Given the description of an element on the screen output the (x, y) to click on. 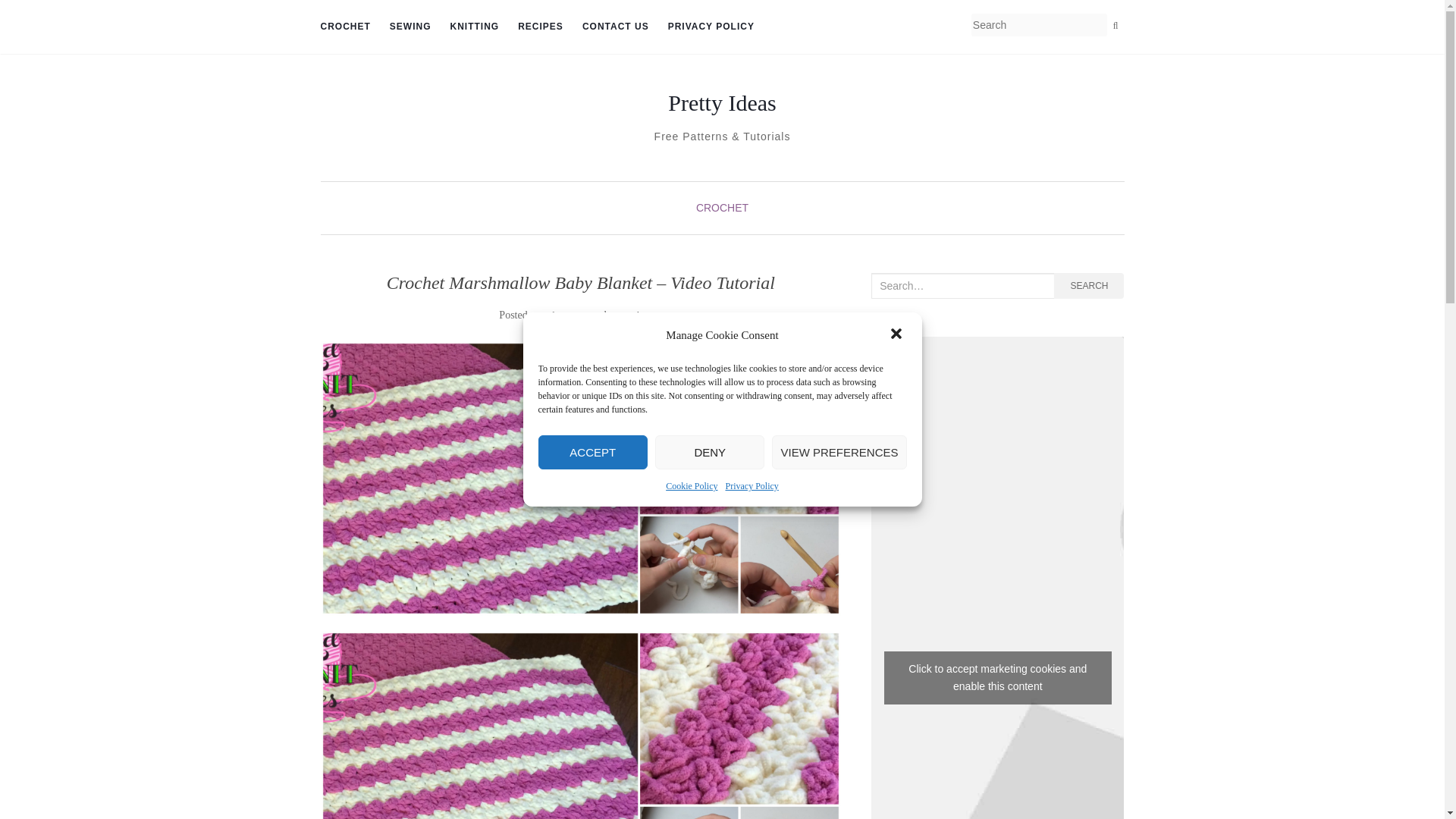
Pretty Ideas (722, 102)
SEWING (410, 27)
Sewing (410, 27)
Search (1115, 25)
PRIVACY POLICY (711, 27)
KNITTING (474, 27)
Privacy Policy (751, 485)
Recipes (540, 27)
Crochet (344, 27)
July 11, 2016 (569, 315)
Search for: (962, 285)
Privacy Policy (711, 27)
DSadmin (635, 315)
Knitting (474, 27)
RECIPES (540, 27)
